Given the description of an element on the screen output the (x, y) to click on. 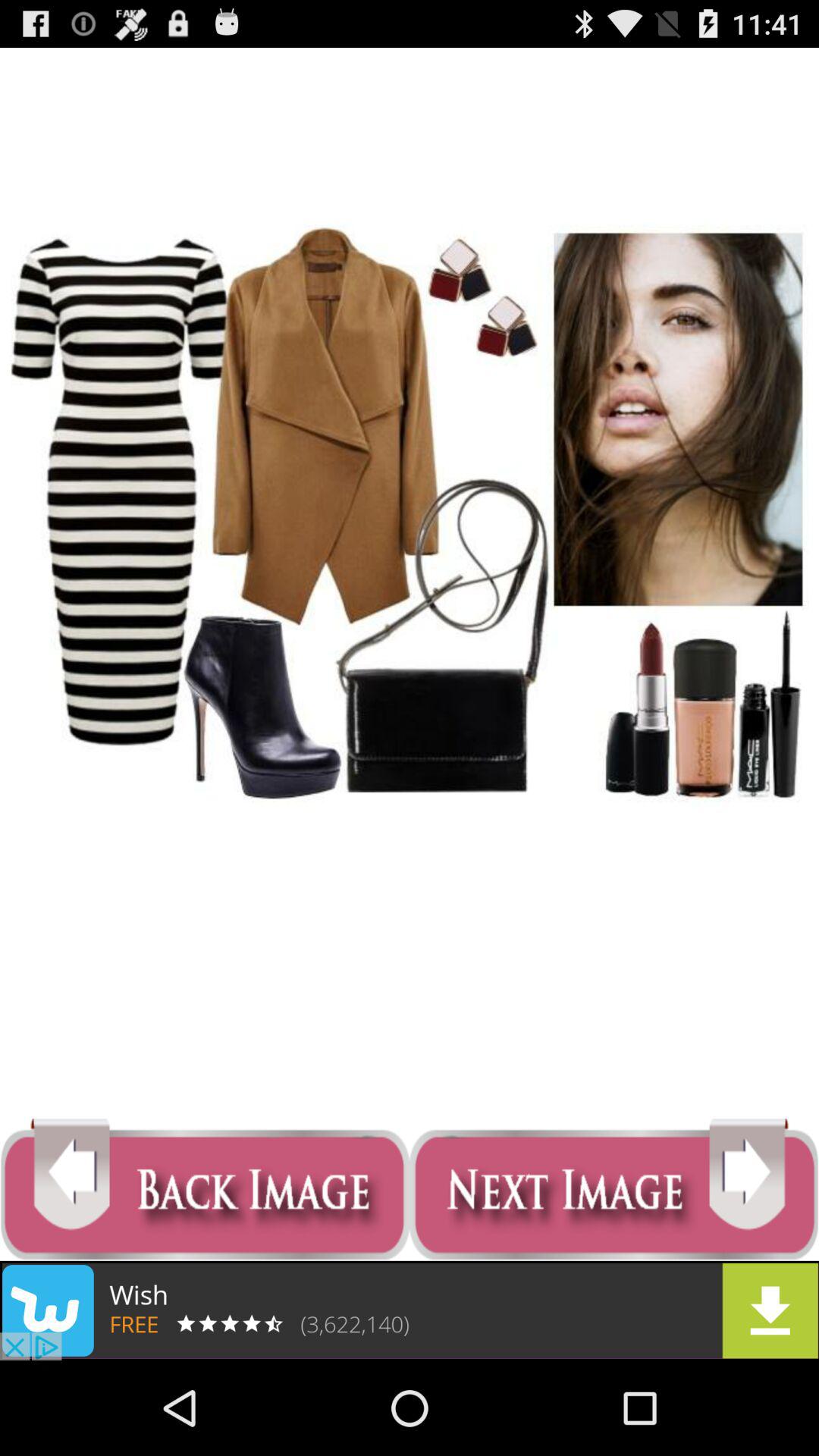
go to back image (204, 1189)
